Given the description of an element on the screen output the (x, y) to click on. 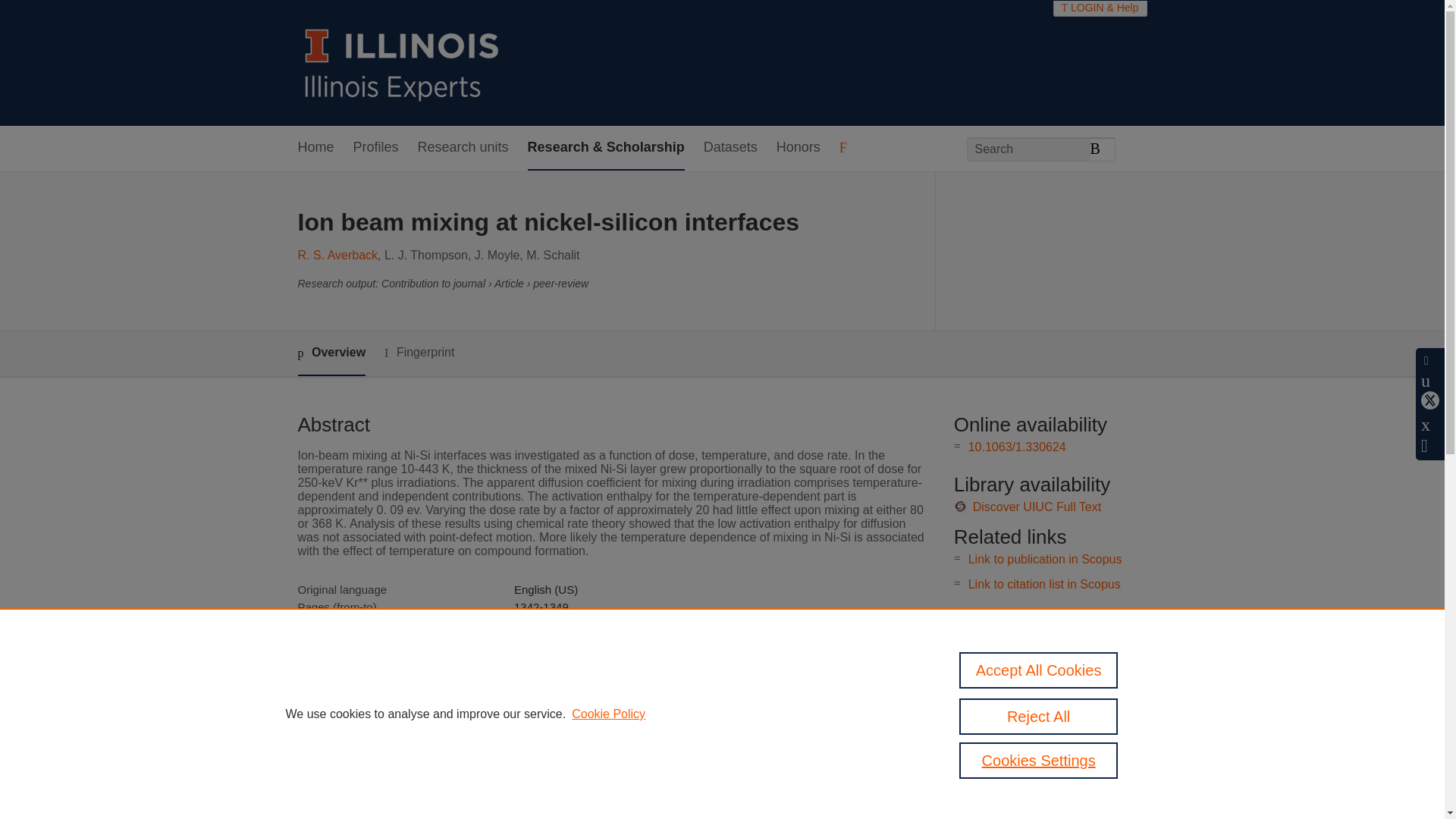
Research units (462, 148)
Overview (331, 353)
University of Illinois Urbana-Champaign Home (402, 62)
R. S. Averback (337, 254)
Link to publication in Scopus (1045, 558)
Datasets (730, 148)
Discover UIUC Full Text (1037, 506)
Link to citation list in Scopus (1044, 584)
Journal of Applied Physics (579, 641)
Honors (798, 148)
Profiles (375, 148)
Fingerprint (419, 352)
